Given the description of an element on the screen output the (x, y) to click on. 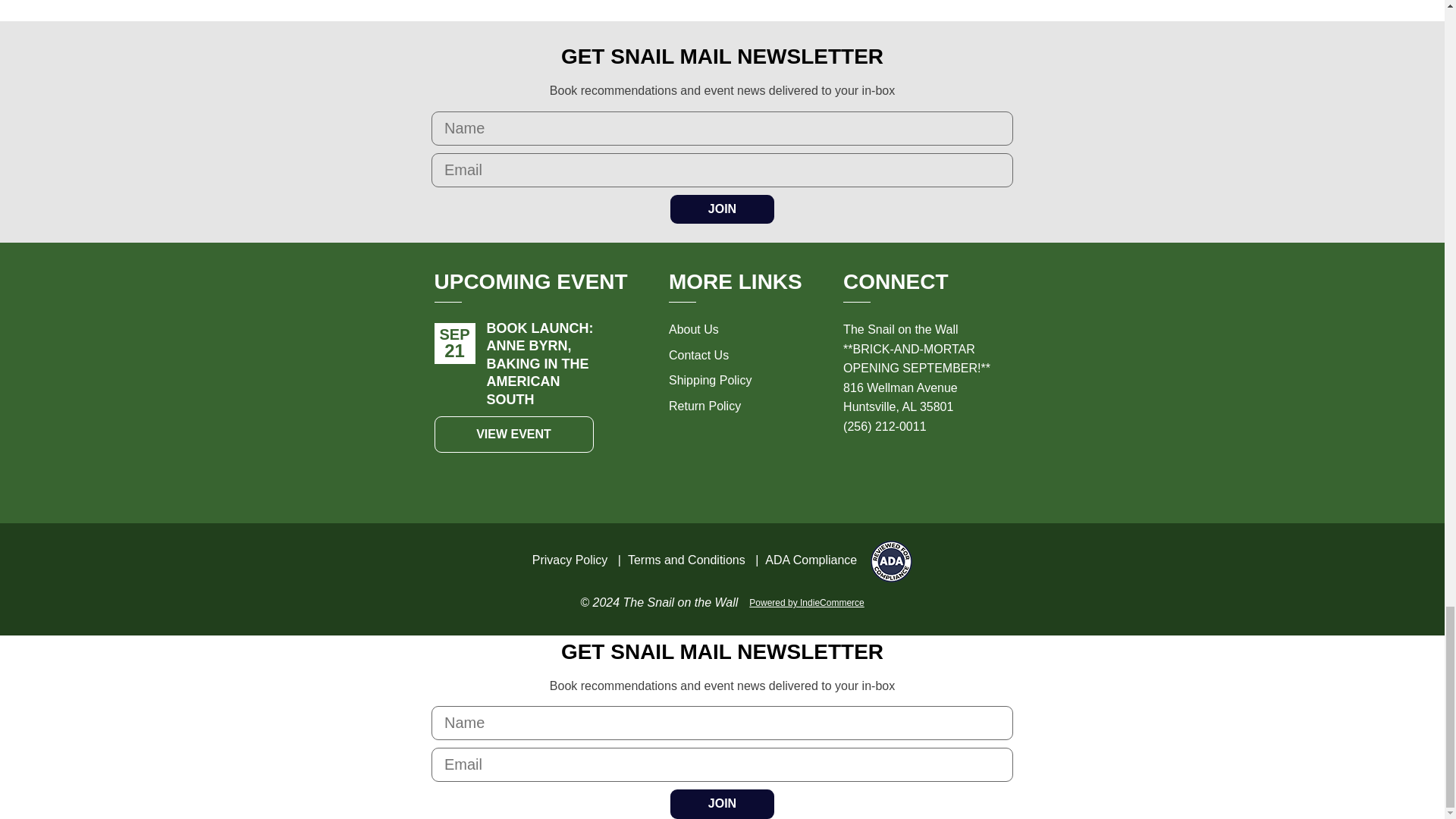
Join (721, 208)
Connect with Facebook (885, 469)
Join (721, 803)
Connect with Youtube Channel (951, 469)
Connect with Instagram (852, 469)
Connect with Tik Tok (919, 469)
